Given the description of an element on the screen output the (x, y) to click on. 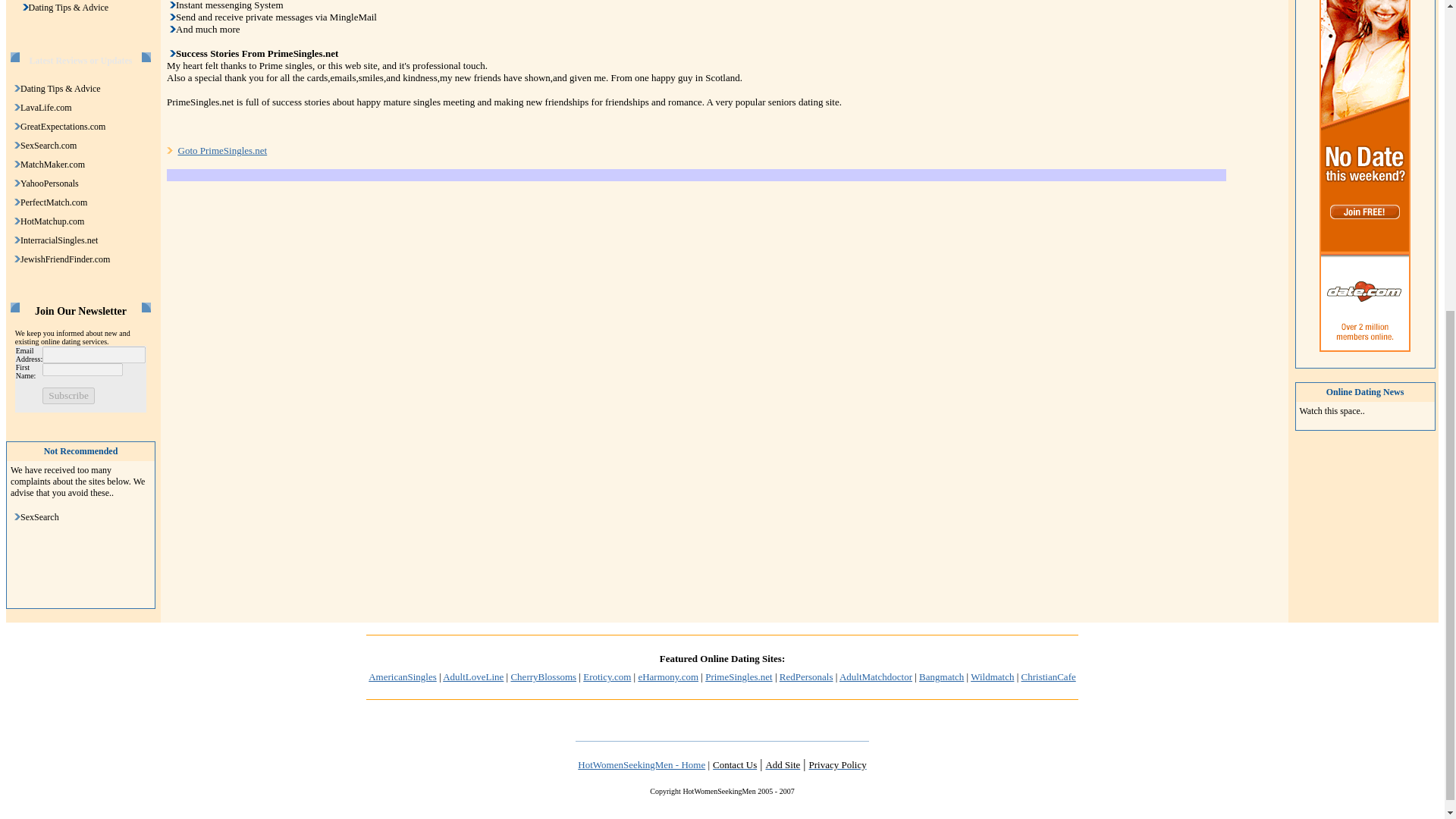
SexSearch.com (48, 145)
PerfectMatch.com (53, 202)
HotMatchup.com (52, 221)
GreatExpectations.com (62, 126)
LavaLife.com (45, 107)
InterracialSingles.net (58, 240)
JewishFriendFinder.com (65, 258)
HotWomenSeekingMen (641, 764)
MatchMaker.com (52, 163)
YahooPersonals (49, 183)
Subscribe (68, 395)
Subscribe (68, 395)
Goto PrimeSingles Senior Dating Service (221, 150)
